Given the description of an element on the screen output the (x, y) to click on. 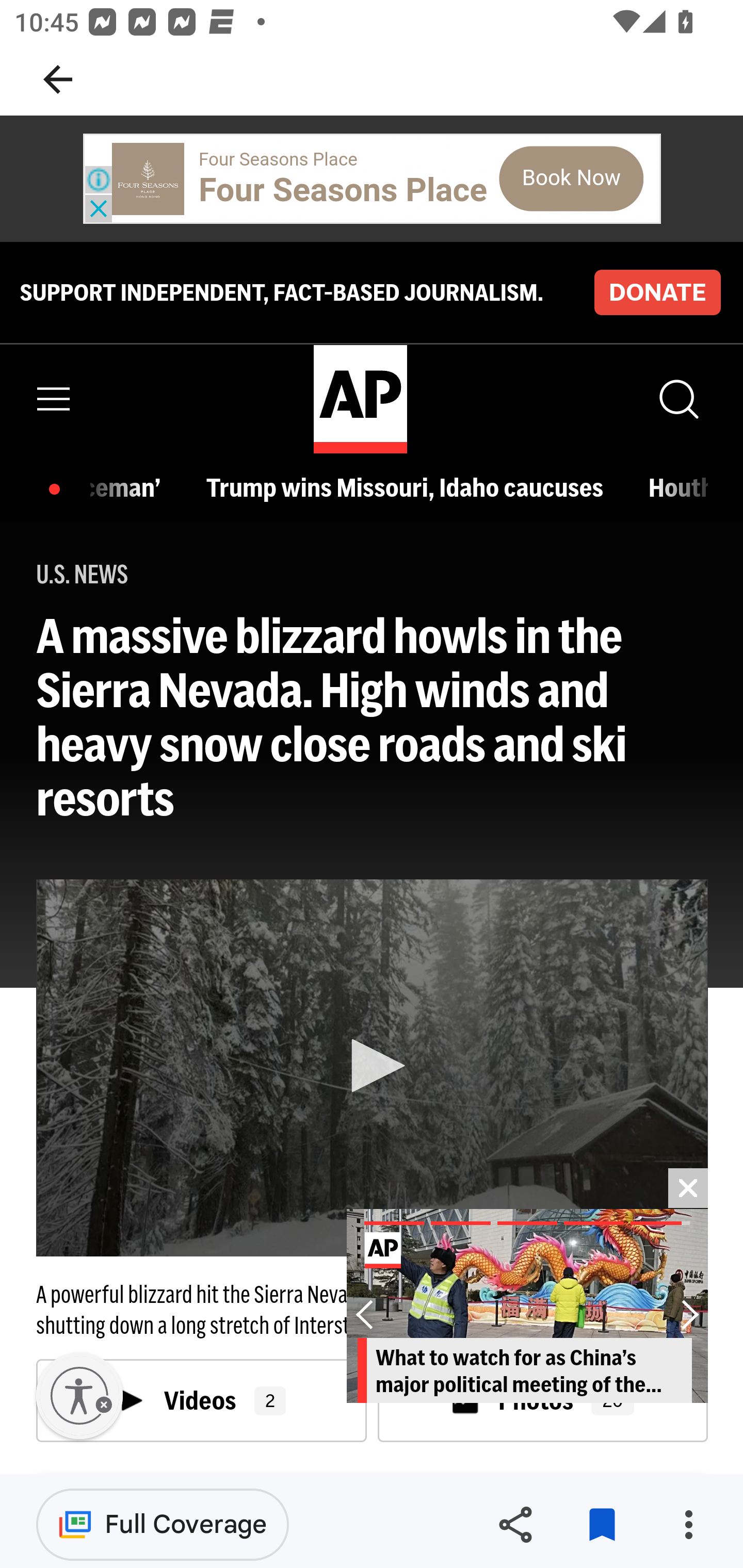
Navigate up (57, 79)
Book Now (571, 178)
Four Seasons Place (278, 158)
Four Seasons Place (342, 190)
DONATE (657, 291)
home page AP Logo (359, 398)
Menu (54, 398)
Show Search (677, 398)
Adam Sandler in ‘Spaceman’ (130, 487)
Trump wins Missouri, Idaho caucuses (409, 487)
U.S. NEWS (83, 574)
Play (372, 1066)
Enable accessibility (79, 1395)
Share (514, 1524)
Remove from saved stories (601, 1524)
More options (688, 1524)
Full Coverage (162, 1524)
